Given the description of an element on the screen output the (x, y) to click on. 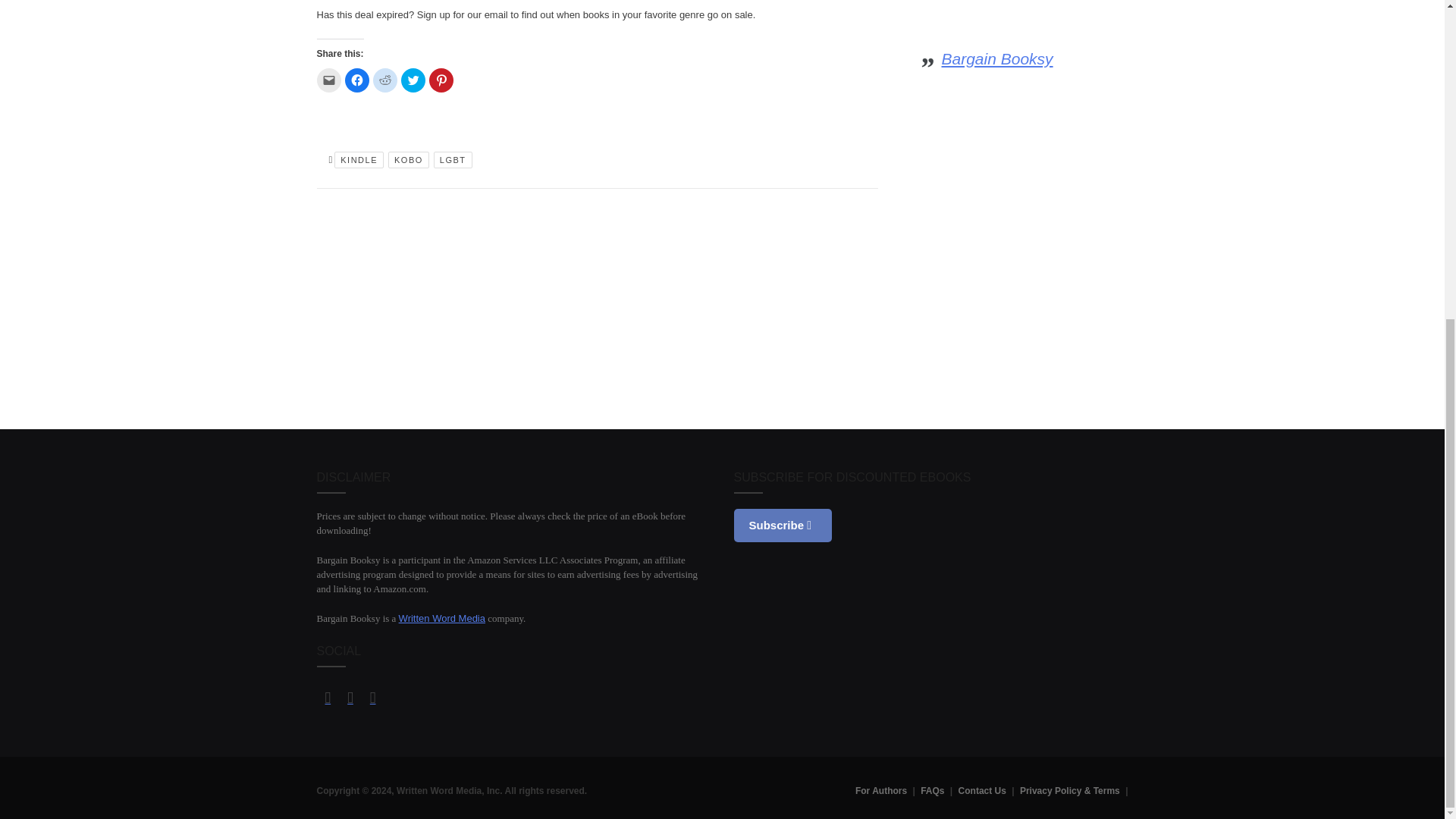
Click to share on Twitter (412, 79)
LGBT (452, 159)
Click to email this to a friend (328, 79)
Click to share on Reddit (384, 79)
KOBO (408, 159)
Sign up for our email (462, 14)
Click to share on Facebook (355, 79)
Click to share on Pinterest (440, 79)
KINDLE (359, 159)
